Given the description of an element on the screen output the (x, y) to click on. 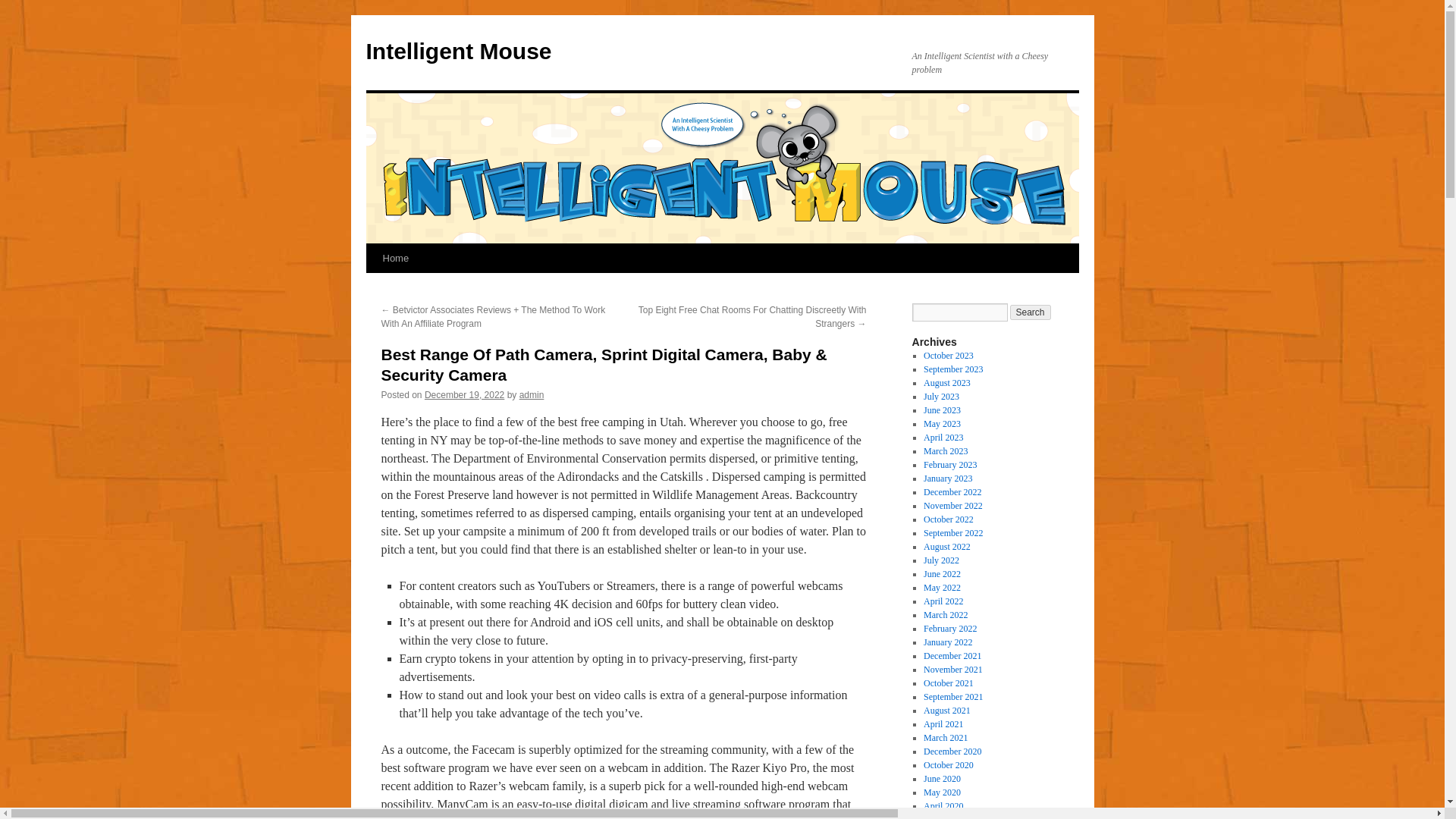
Search (1030, 312)
November 2021 (952, 669)
June 2023 (941, 409)
April 2022 (942, 601)
March 2022 (945, 614)
May 2022 (941, 587)
September 2021 (952, 696)
Search (1030, 312)
March 2023 (945, 450)
August 2023 (947, 382)
October 2021 (948, 683)
11:22 am (464, 394)
June 2022 (941, 573)
July 2023 (941, 396)
September 2022 (952, 532)
